Given the description of an element on the screen output the (x, y) to click on. 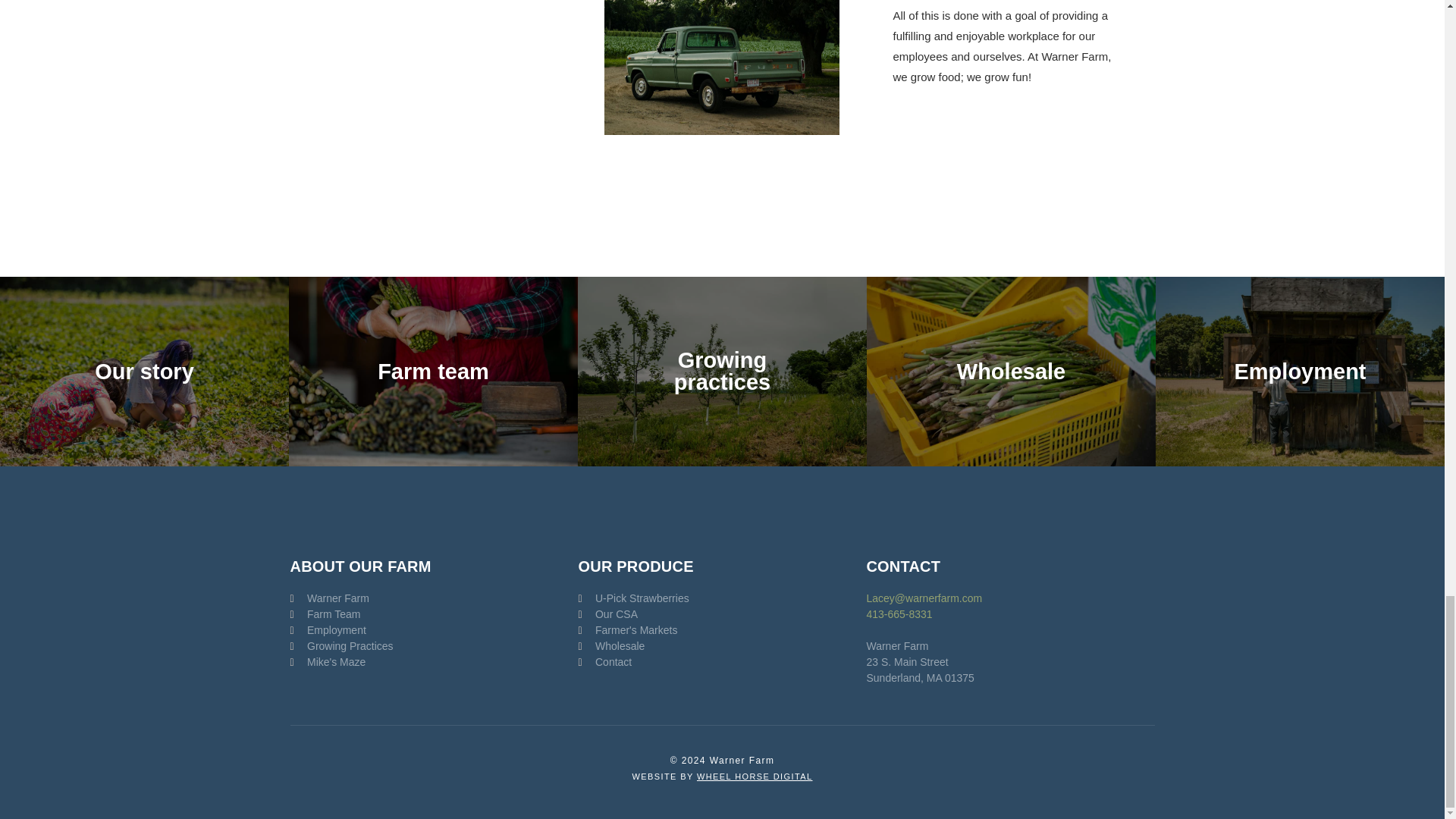
Wholesale (633, 646)
WEBSITE BY WHEEL HORSE DIGITAL (721, 776)
Mike's Maze (341, 662)
Farm team (433, 371)
413-665-8331 (898, 613)
Farm Team (341, 614)
Employment (341, 630)
Our story (144, 371)
Warner Farm (341, 598)
Farmer's Markets (633, 630)
